Given the description of an element on the screen output the (x, y) to click on. 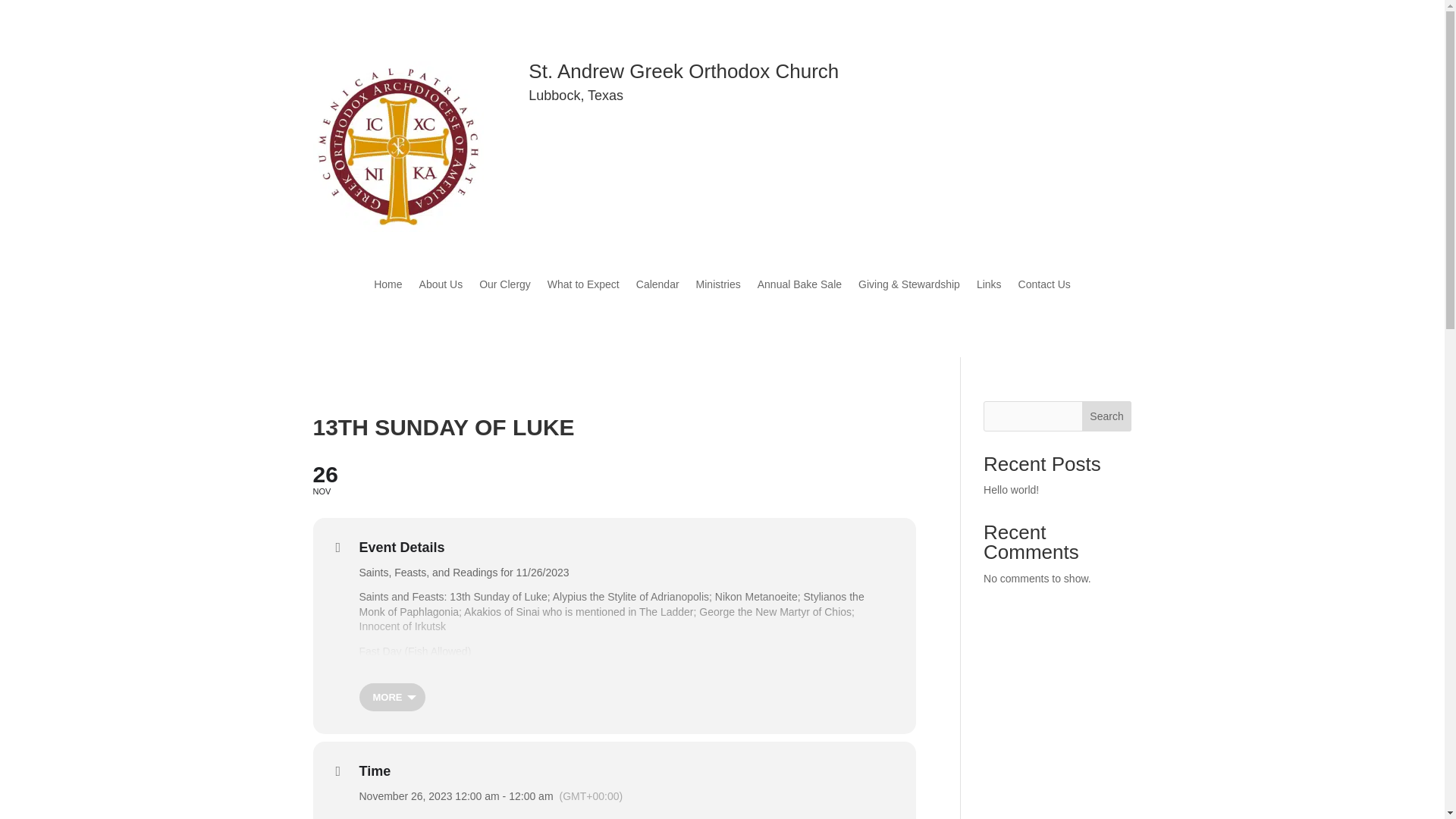
Ministries (718, 287)
About Us (441, 287)
Search (614, 478)
Home (1106, 416)
Our Clergy (387, 287)
What to Expect (505, 287)
Hello world! (583, 287)
Annual Bake Sale (1011, 490)
Contact Us (799, 287)
